Given the description of an element on the screen output the (x, y) to click on. 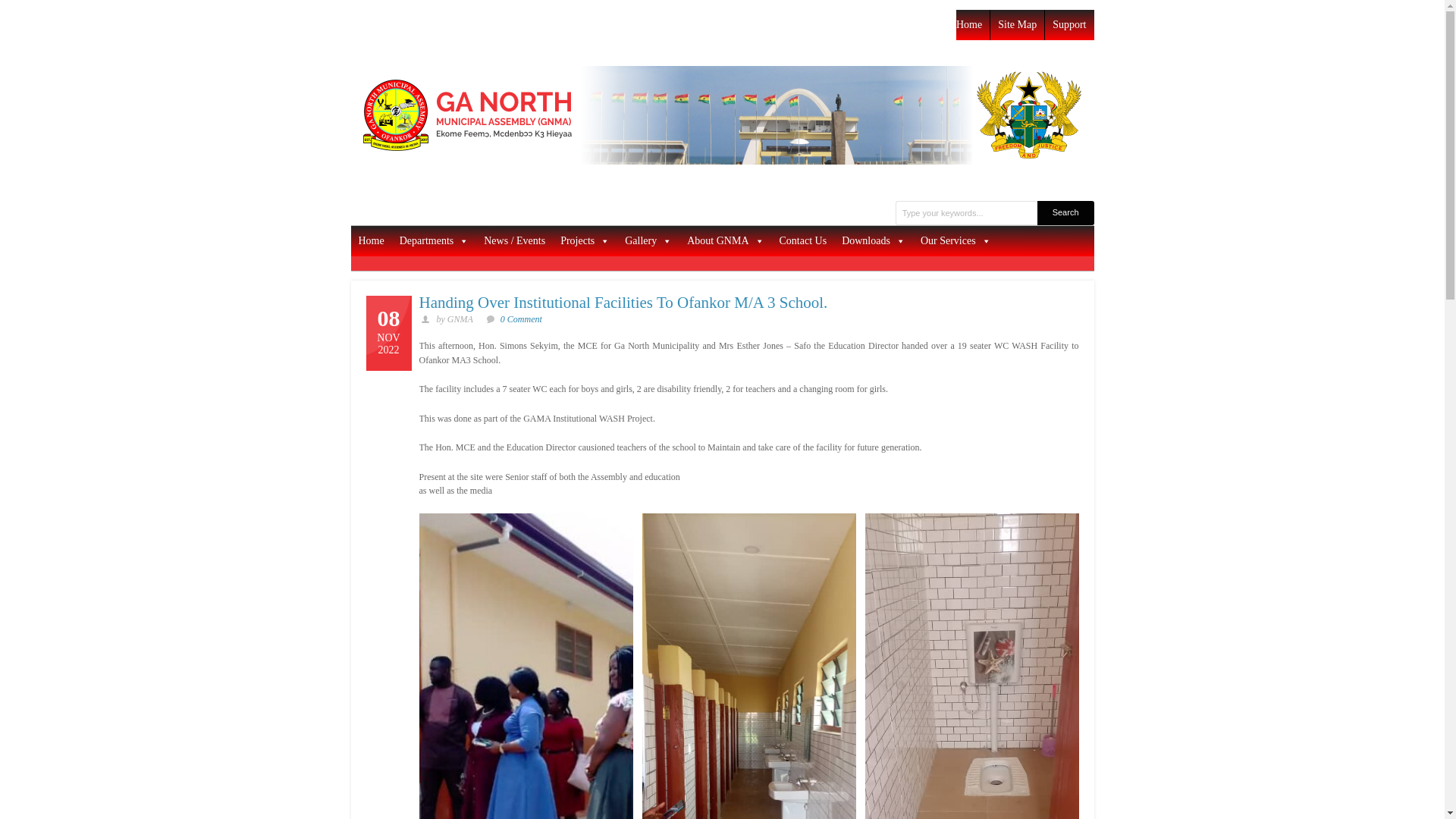
Support (1069, 24)
Type your keywords... (965, 212)
Site Map (1017, 24)
Projects (585, 241)
Search (1065, 212)
Gallery (648, 241)
About GNMA (725, 241)
Home (370, 241)
Departments (434, 241)
Search (1065, 212)
